Given the description of an element on the screen output the (x, y) to click on. 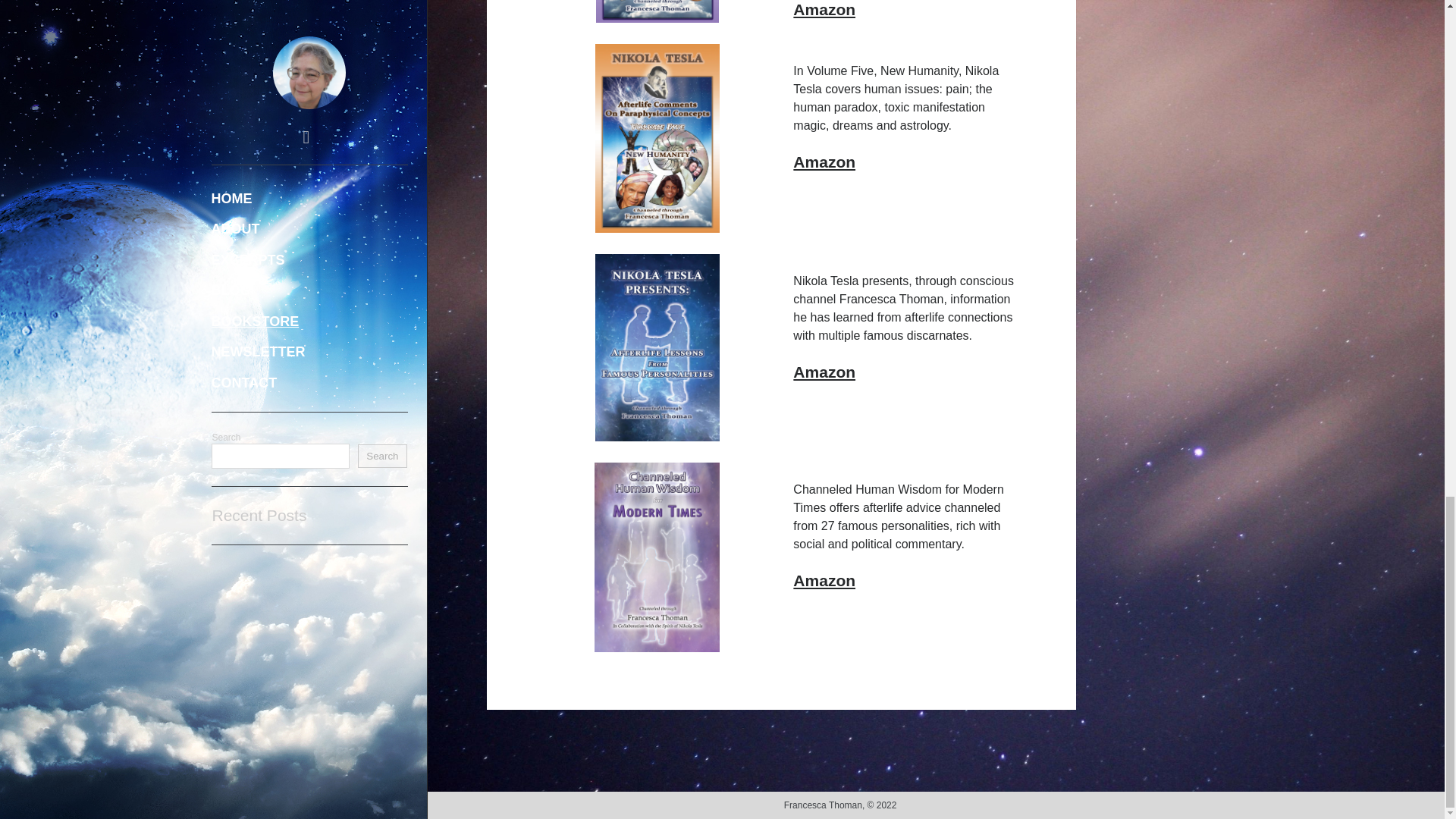
Amazon (824, 9)
Amazon (824, 161)
Amazon (824, 371)
Amazon (824, 579)
